Given the description of an element on the screen output the (x, y) to click on. 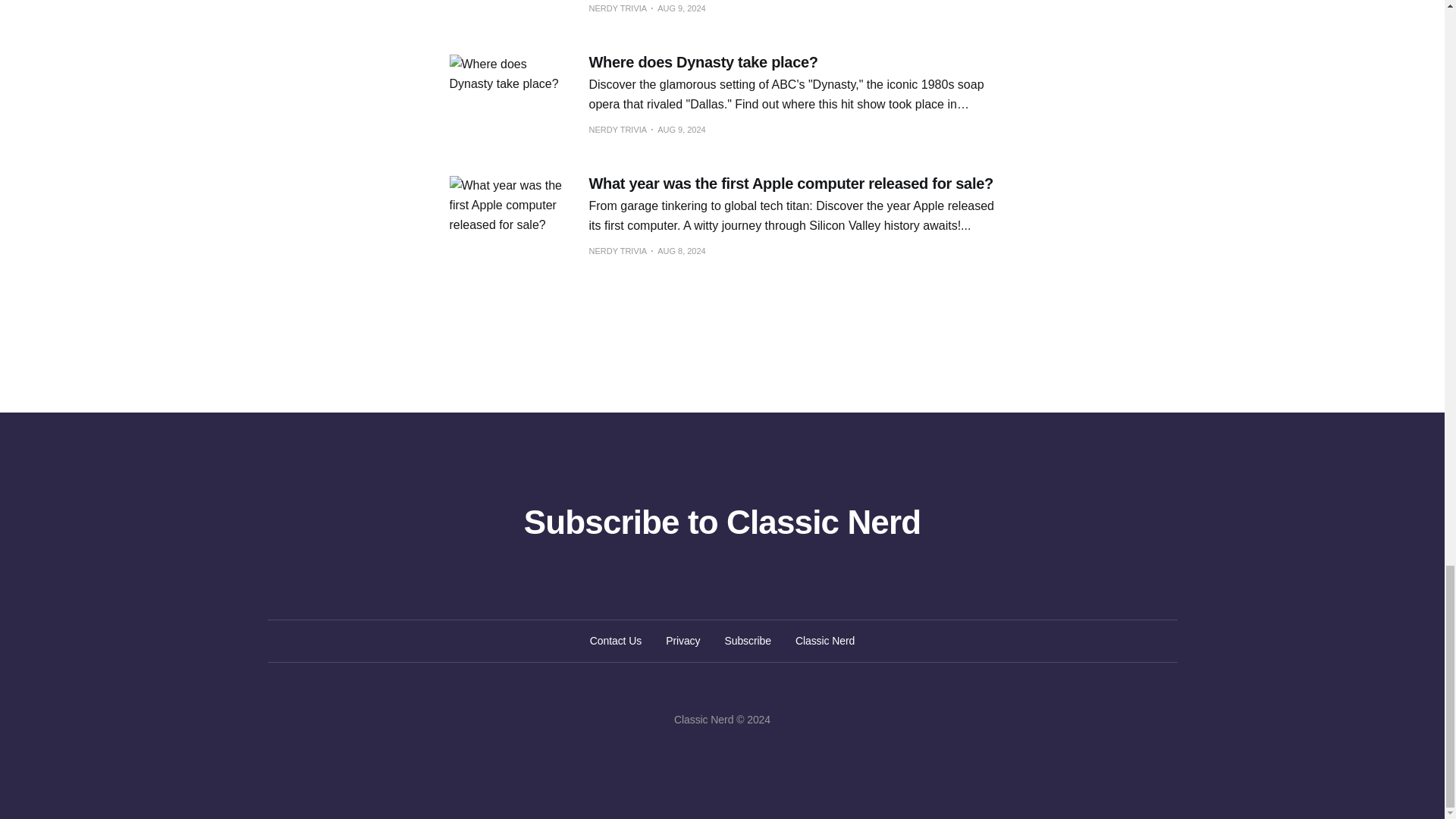
Contact Us (615, 640)
Subscribe (747, 640)
Privacy (682, 640)
Classic Nerd (824, 640)
